Given the description of an element on the screen output the (x, y) to click on. 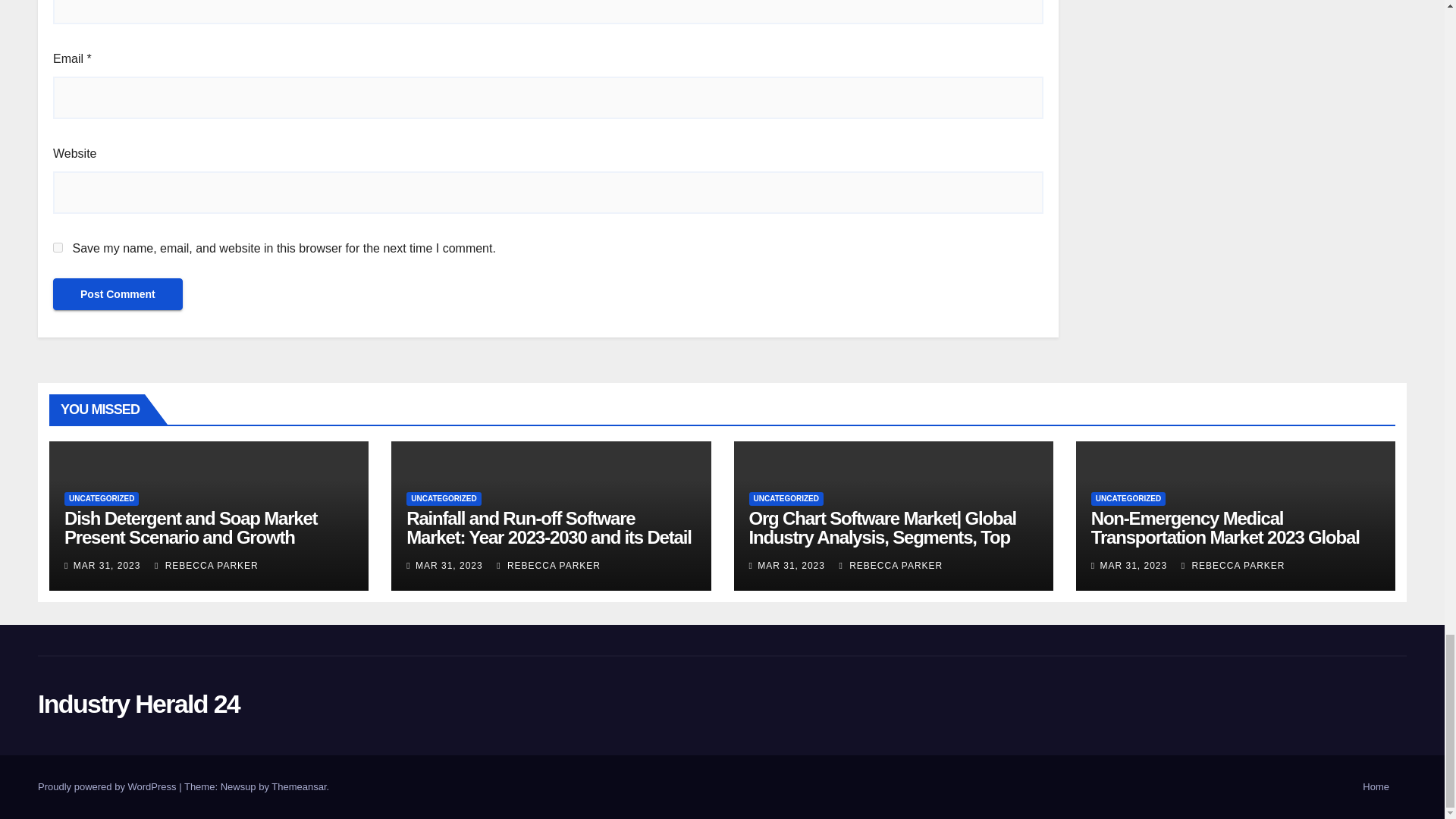
yes (57, 247)
Home (1375, 786)
Post Comment (117, 294)
